Given the description of an element on the screen output the (x, y) to click on. 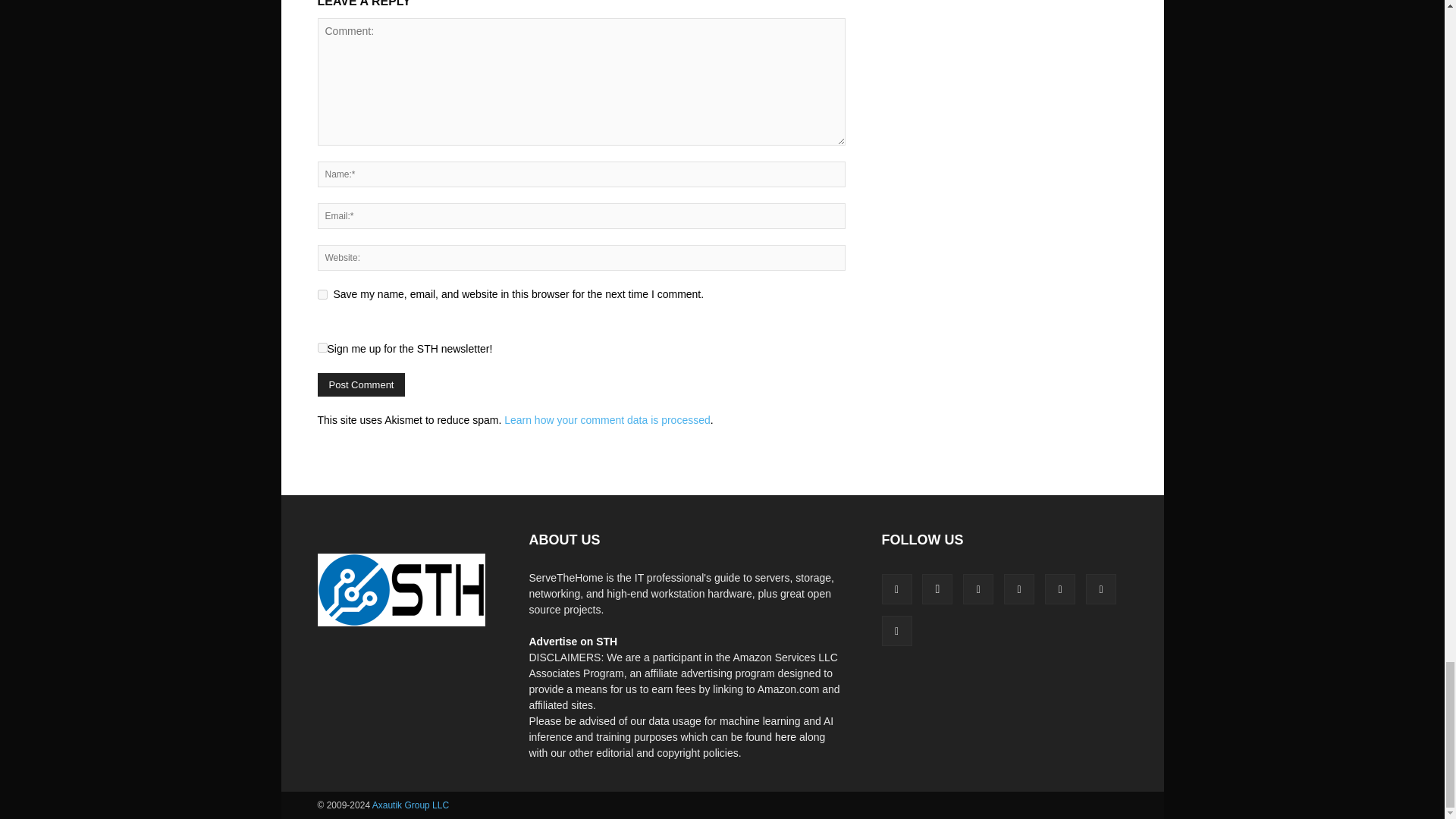
yes (321, 294)
Post Comment (360, 384)
1 (321, 347)
